Given the description of an element on the screen output the (x, y) to click on. 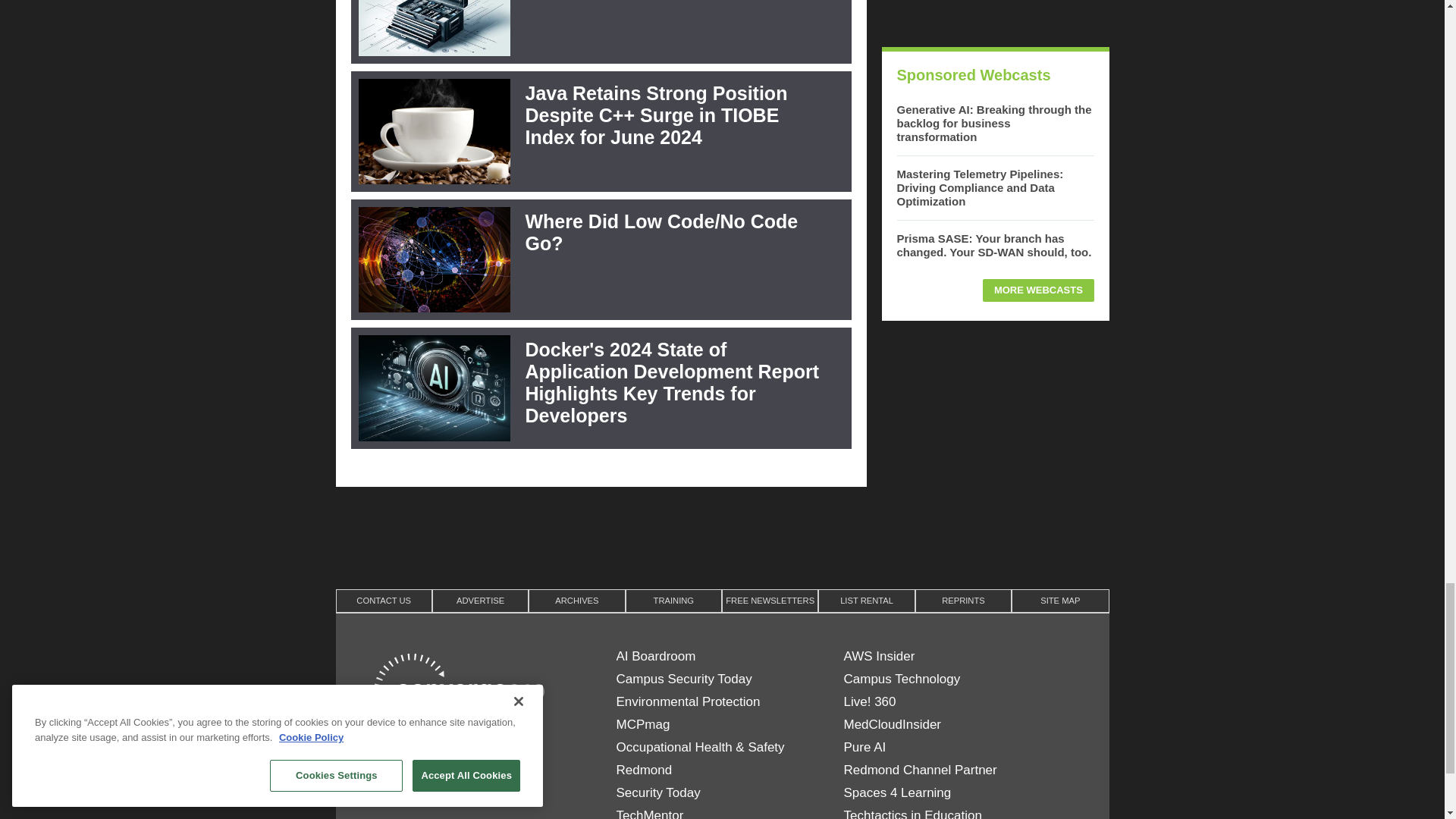
3rd party ad content (994, 15)
3rd party ad content (721, 536)
